Given the description of an element on the screen output the (x, y) to click on. 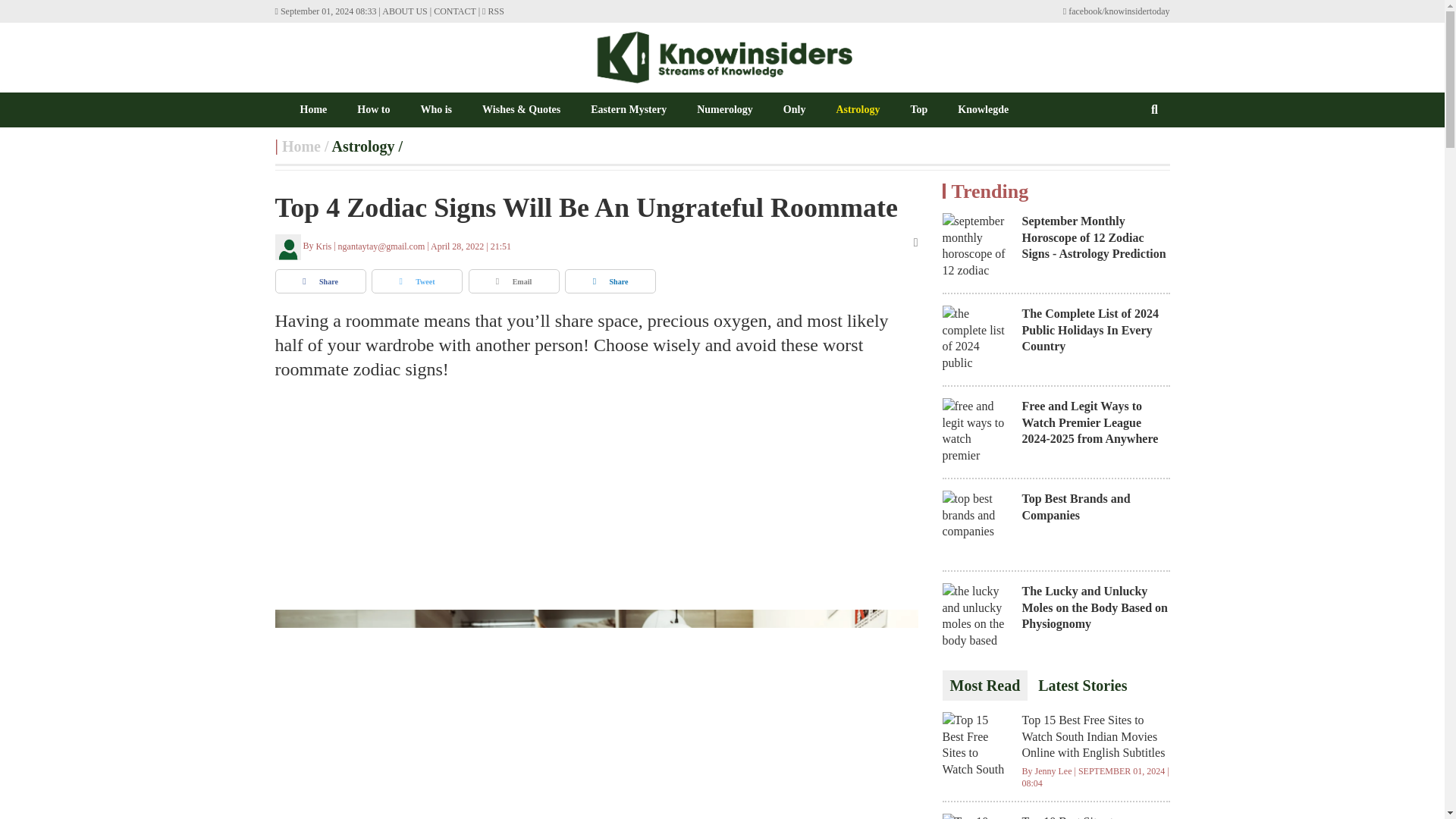
Home (301, 146)
Share (320, 281)
Share by Email (513, 281)
Astrology (362, 146)
ABOUT US (403, 10)
Tweet (417, 281)
CONTACT (454, 10)
Astrology (857, 109)
Top (918, 109)
